Given the description of an element on the screen output the (x, y) to click on. 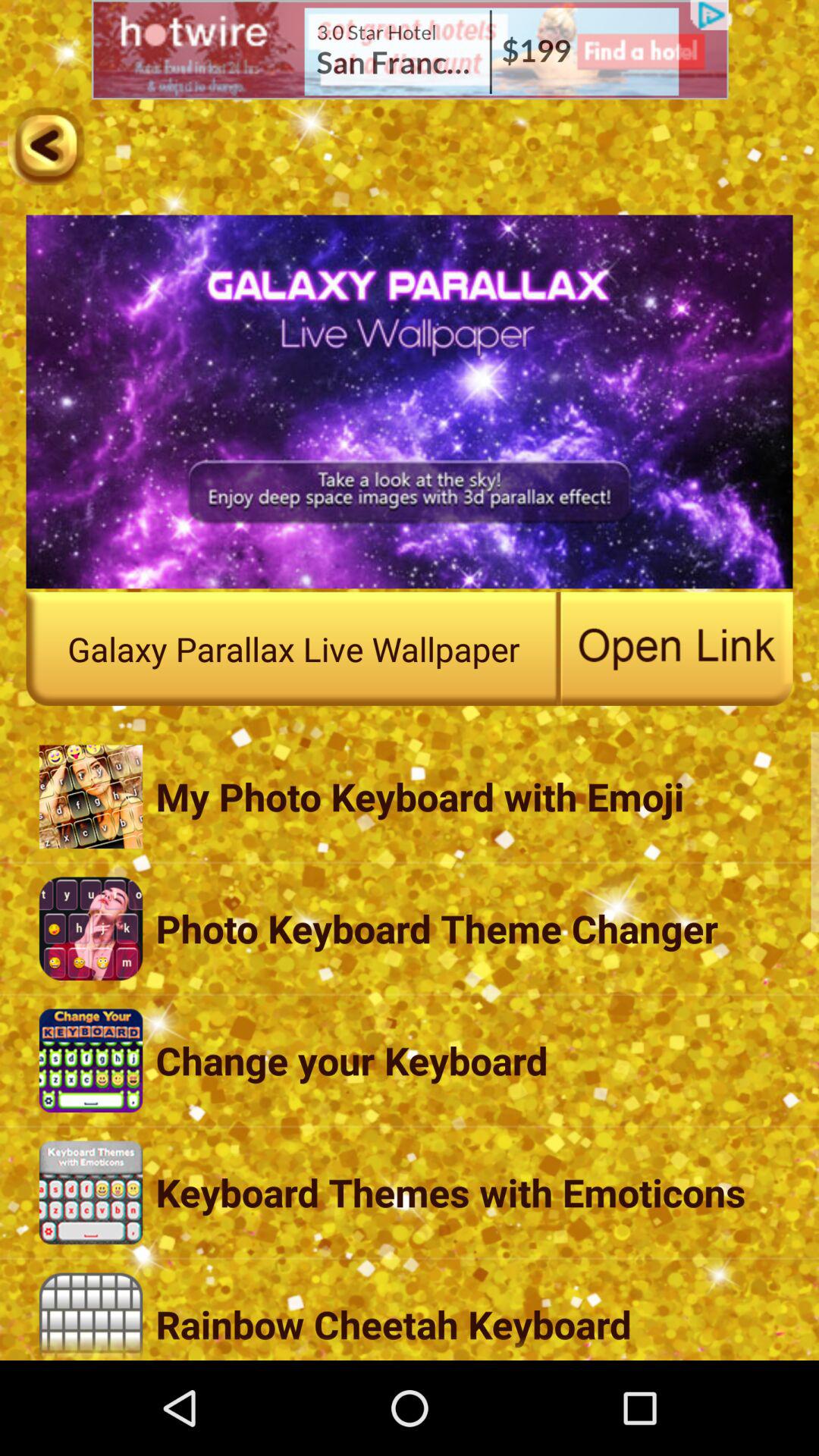
photo editor app (45, 145)
